Given the description of an element on the screen output the (x, y) to click on. 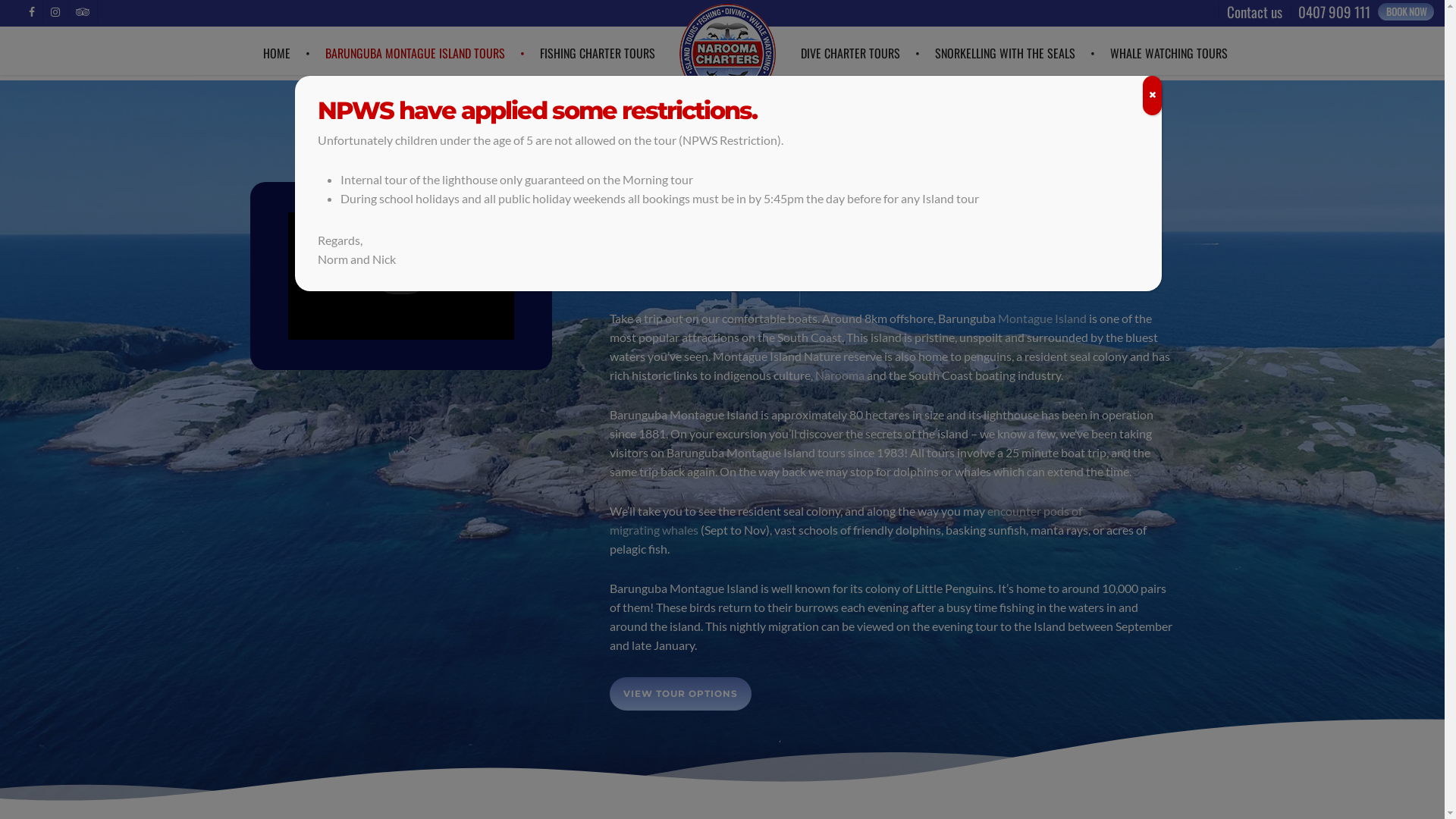
Montague Island Element type: text (1041, 317)
Contact us Element type: text (1253, 11)
encounter pods of migrating whales Element type: text (845, 519)
BARUNGUBA MONTAGUE ISLAND TOURS Element type: text (423, 52)
SNORKELLING WITH THE SEALS Element type: text (1013, 52)
HOME Element type: text (285, 52)
WHALE WATCHING TOURS Element type: text (1168, 52)
vk Element type: text (82, 10)
facebook Element type: text (31, 10)
DIVE CHARTER TOURS Element type: text (860, 52)
BOOK NOW Element type: text (1405, 11)
instagram Element type: text (54, 10)
Narooma Element type: text (839, 374)
FISHING CHARTER TOURS Element type: text (597, 52)
Visit Montague Island NSW - Montague Island Tours Element type: text (400, 275)
VIEW TOUR OPTIONS Element type: text (680, 693)
0407 909 111 Element type: text (1333, 11)
